Given the description of an element on the screen output the (x, y) to click on. 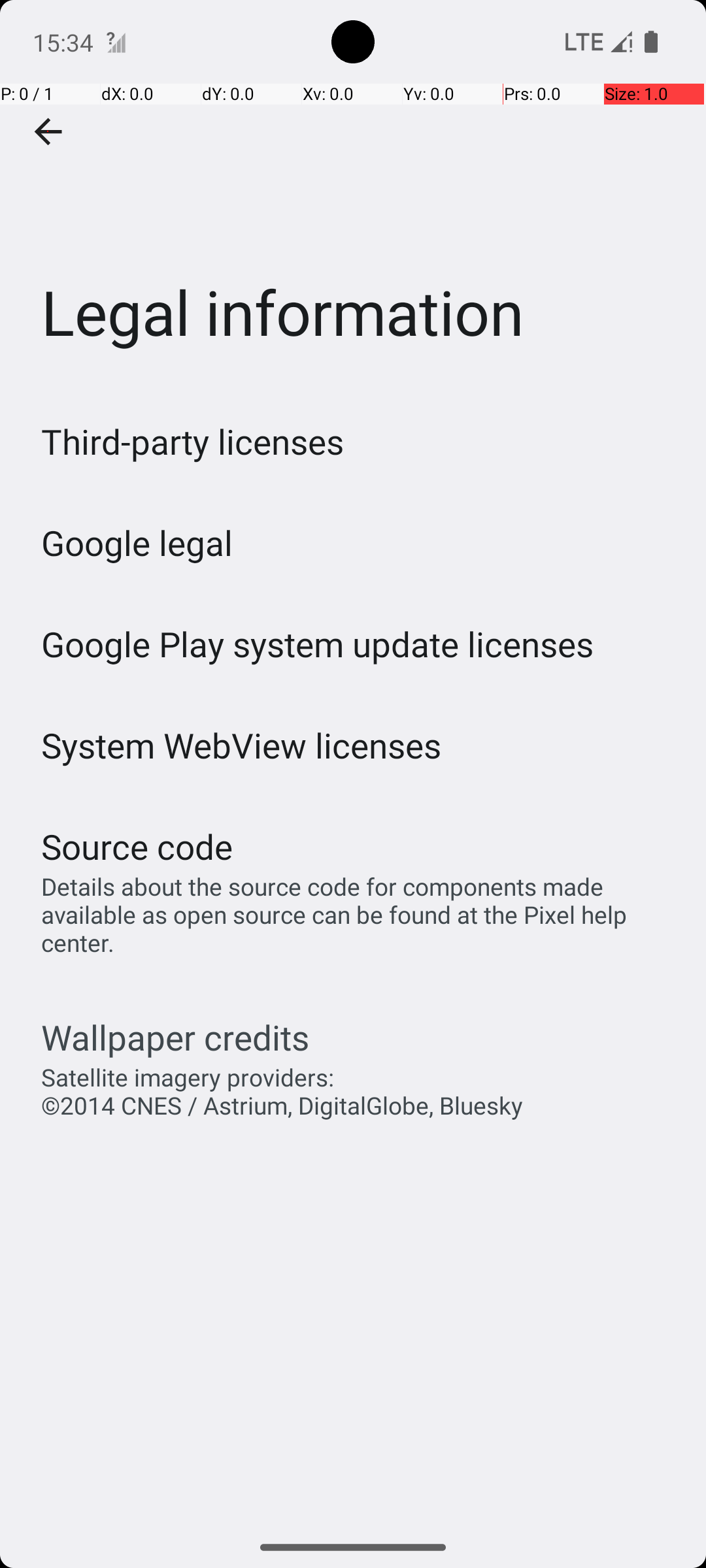
Legal information Element type: android.widget.FrameLayout (353, 195)
Third-party licenses Element type: android.widget.TextView (192, 441)
Google legal Element type: android.widget.TextView (136, 542)
Google Play system update licenses Element type: android.widget.TextView (317, 643)
System WebView licenses Element type: android.widget.TextView (241, 744)
Source code Element type: android.widget.TextView (136, 846)
Details about the source code for components made available as open source can be found at the Pixel help center. Element type: android.widget.TextView (359, 914)
Wallpaper credits Element type: android.widget.TextView (175, 1036)
Satellite imagery providers:
©2014 CNES / Astrium, DigitalGlobe, Bluesky Element type: android.widget.TextView (281, 1090)
